Given the description of an element on the screen output the (x, y) to click on. 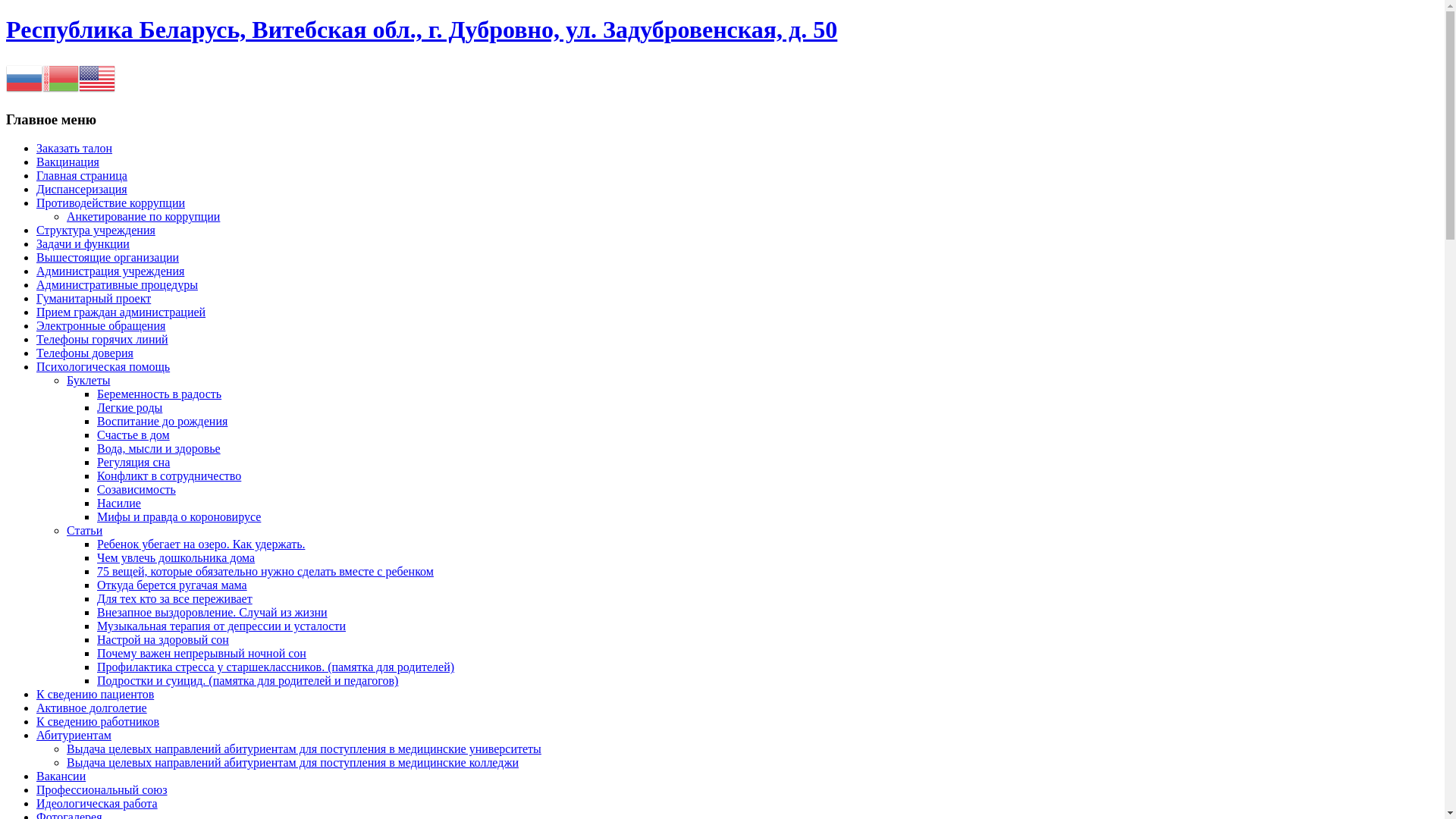
Belarusian Element type: hover (60, 77)
English Element type: hover (96, 77)
Russian Element type: hover (24, 77)
